Given the description of an element on the screen output the (x, y) to click on. 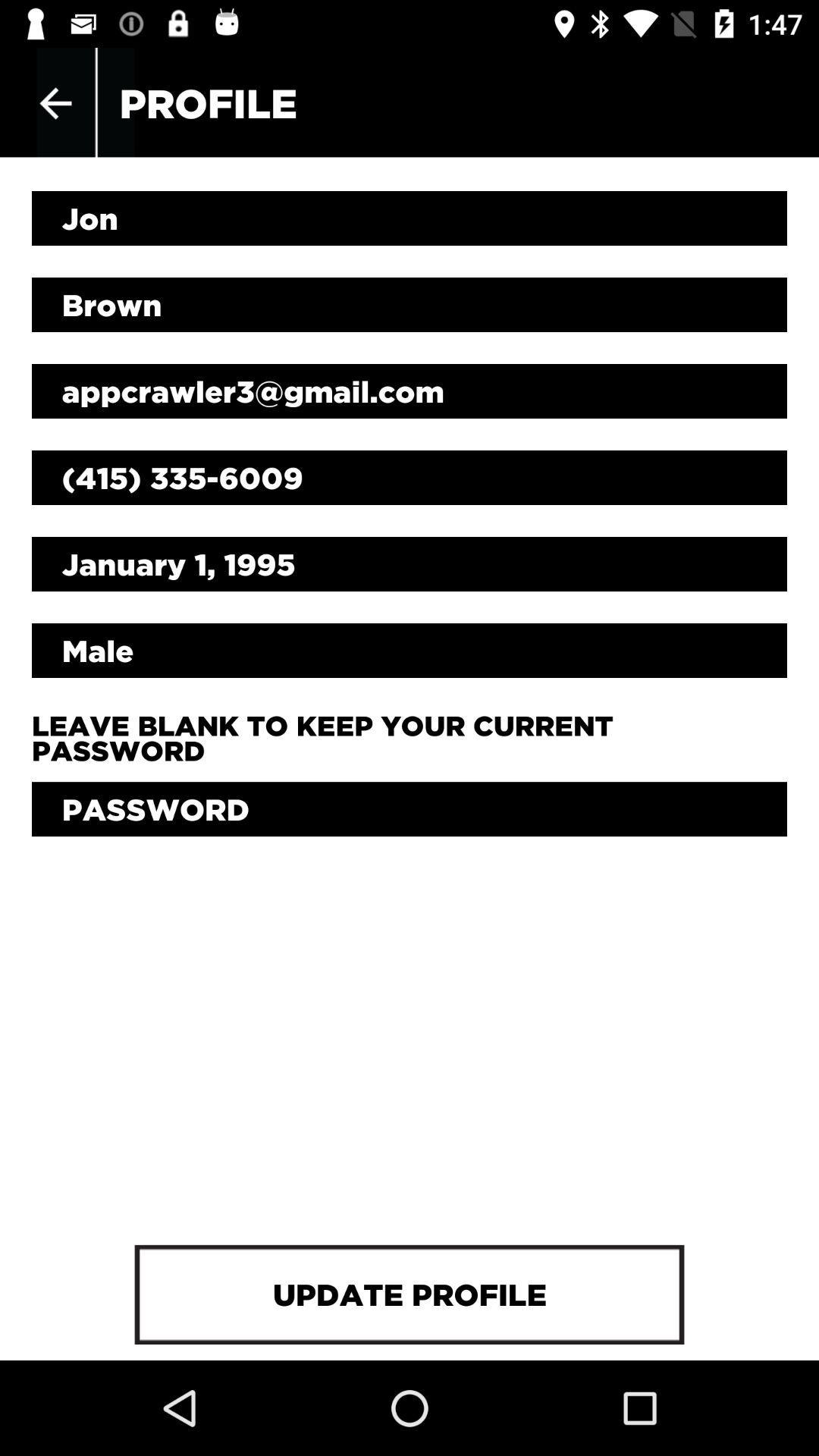
click the january 1, 1995 item (409, 563)
